Given the description of an element on the screen output the (x, y) to click on. 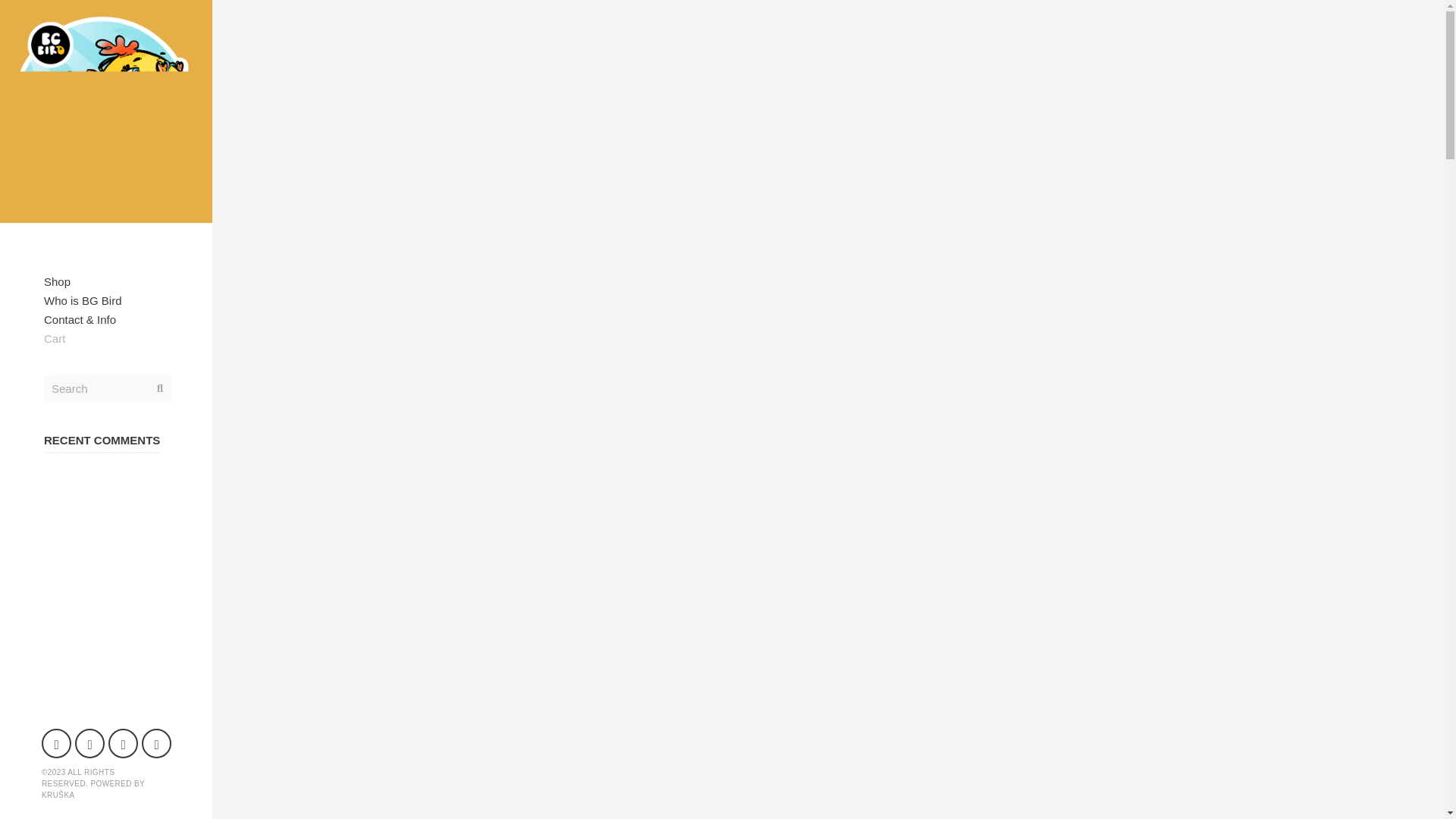
BG Bird (106, 111)
Who is BG Bird (106, 300)
Shop (106, 281)
Search (21, 7)
Search (106, 388)
Cart (106, 338)
